Given the description of an element on the screen output the (x, y) to click on. 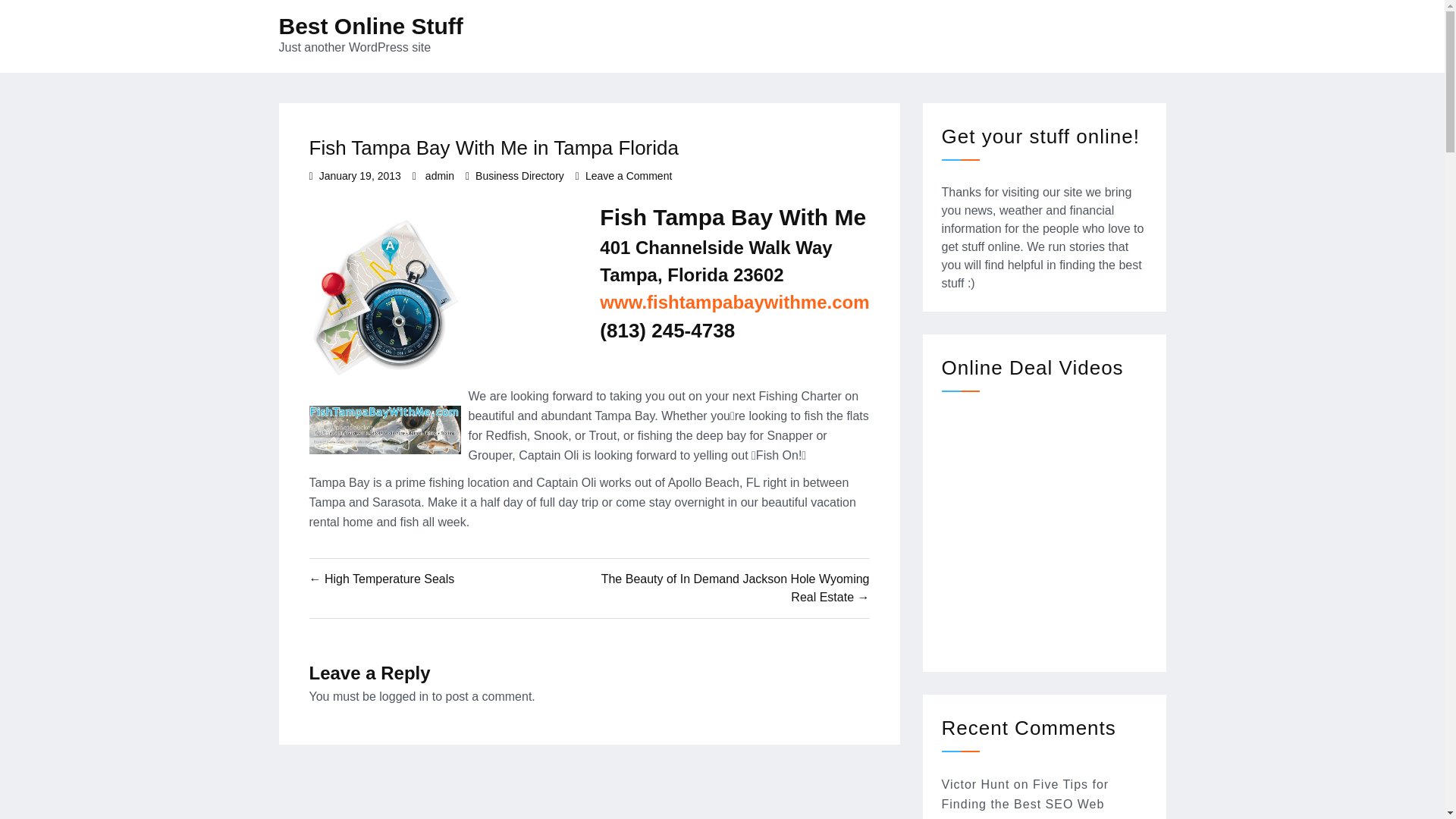
Victor Hunt (976, 784)
www.fishtampabaywithme.com (734, 301)
January 19, 2013 (359, 175)
logged in (403, 696)
Business Directory (520, 175)
Five Tips for Finding the Best SEO Web Design Company (628, 175)
admin (1025, 798)
Best Online Stuff (439, 175)
